Given the description of an element on the screen output the (x, y) to click on. 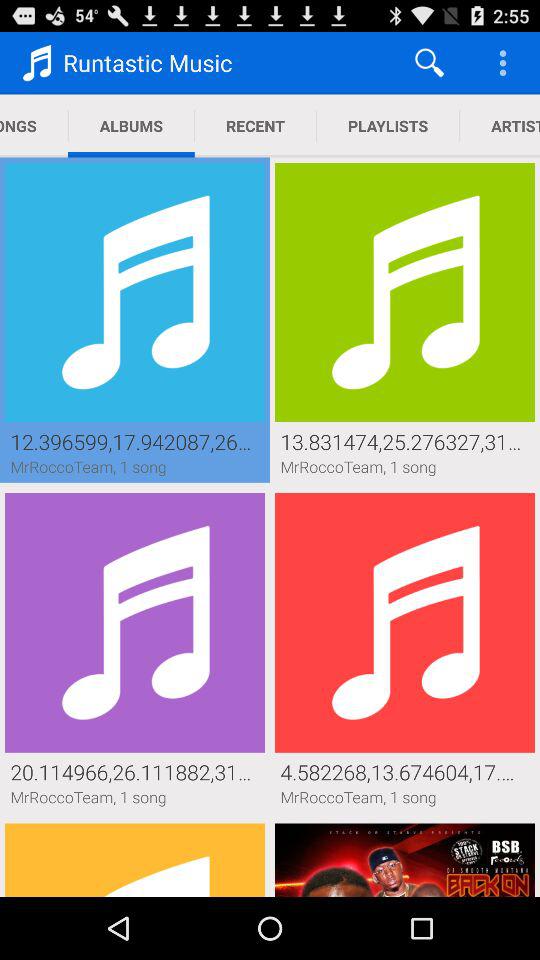
select albums item (131, 125)
